Given the description of an element on the screen output the (x, y) to click on. 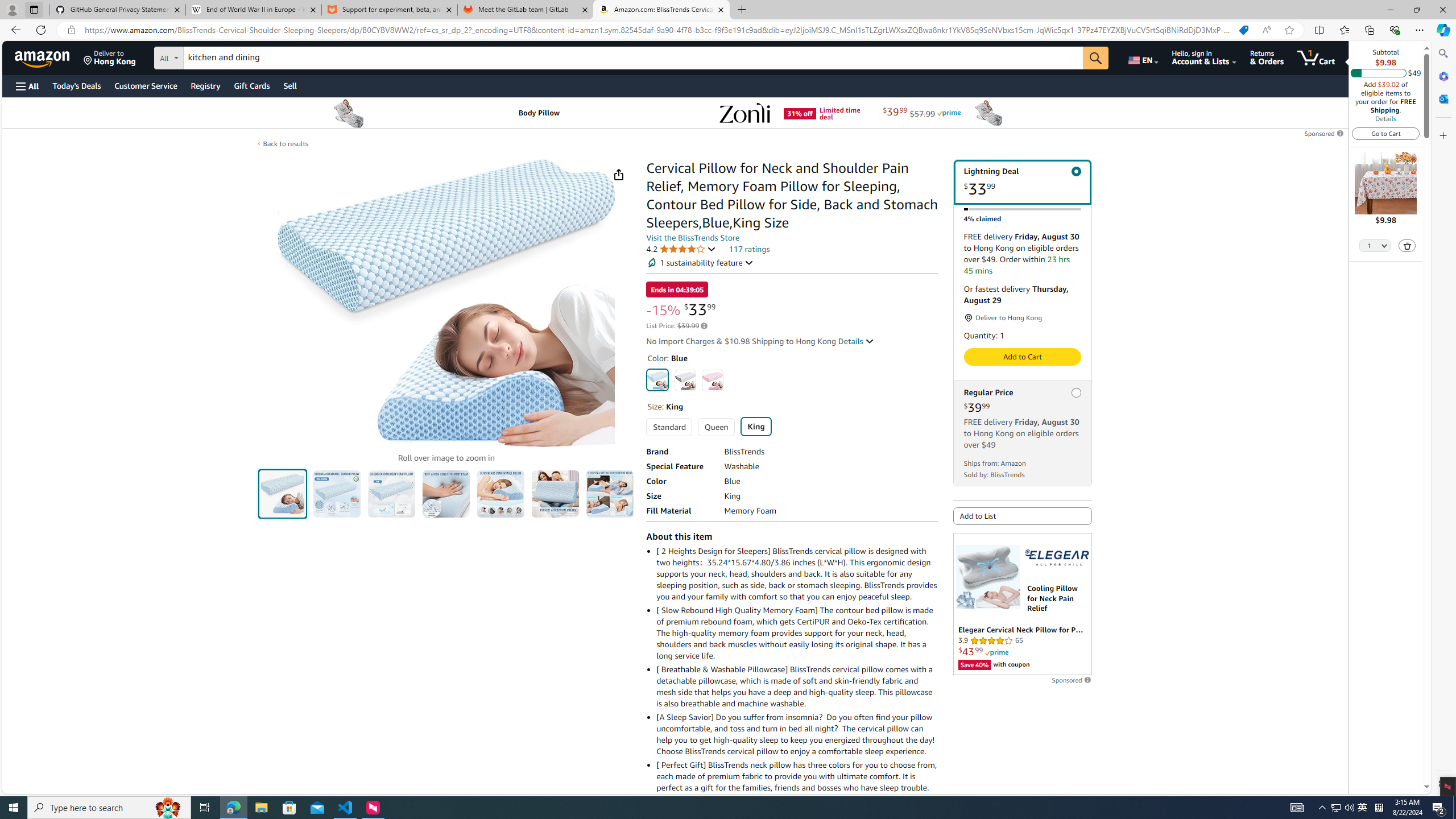
Meet the GitLab team | GitLab (525, 9)
Delete (1407, 245)
Quantity Selector (1374, 246)
Delete (1407, 245)
Registry (205, 85)
Details (1385, 118)
Gift Cards (251, 85)
Learn more about Amazon pricing and savings (703, 325)
Back to results (285, 144)
